Given the description of an element on the screen output the (x, y) to click on. 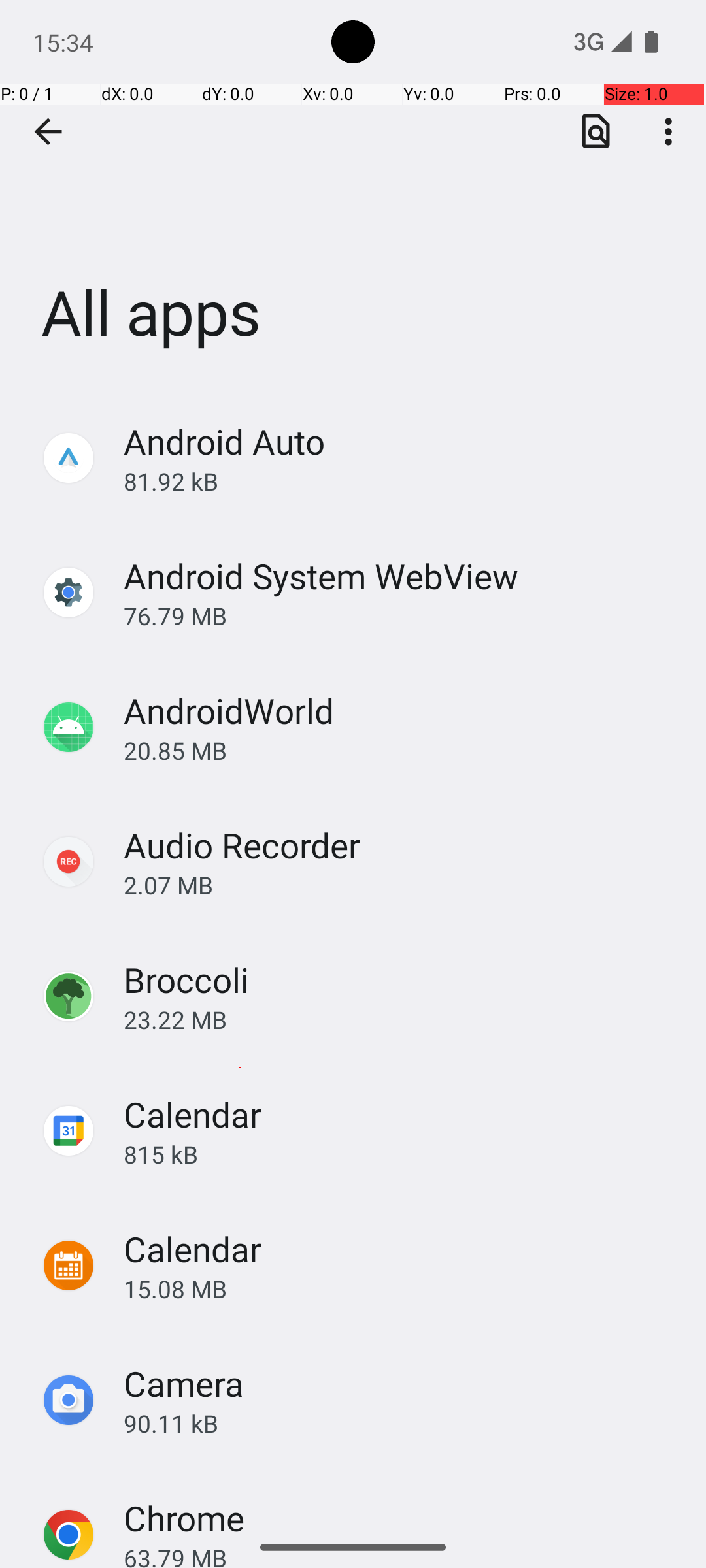
All apps Element type: android.widget.FrameLayout (353, 195)
81.92 kB Element type: android.widget.TextView (400, 480)
76.79 MB Element type: android.widget.TextView (400, 615)
20.85 MB Element type: android.widget.TextView (400, 750)
2.07 MB Element type: android.widget.TextView (400, 884)
23.22 MB Element type: android.widget.TextView (400, 1019)
815 kB Element type: android.widget.TextView (400, 1153)
15.08 MB Element type: android.widget.TextView (400, 1288)
90.11 kB Element type: android.widget.TextView (400, 1422)
